Given the description of an element on the screen output the (x, y) to click on. 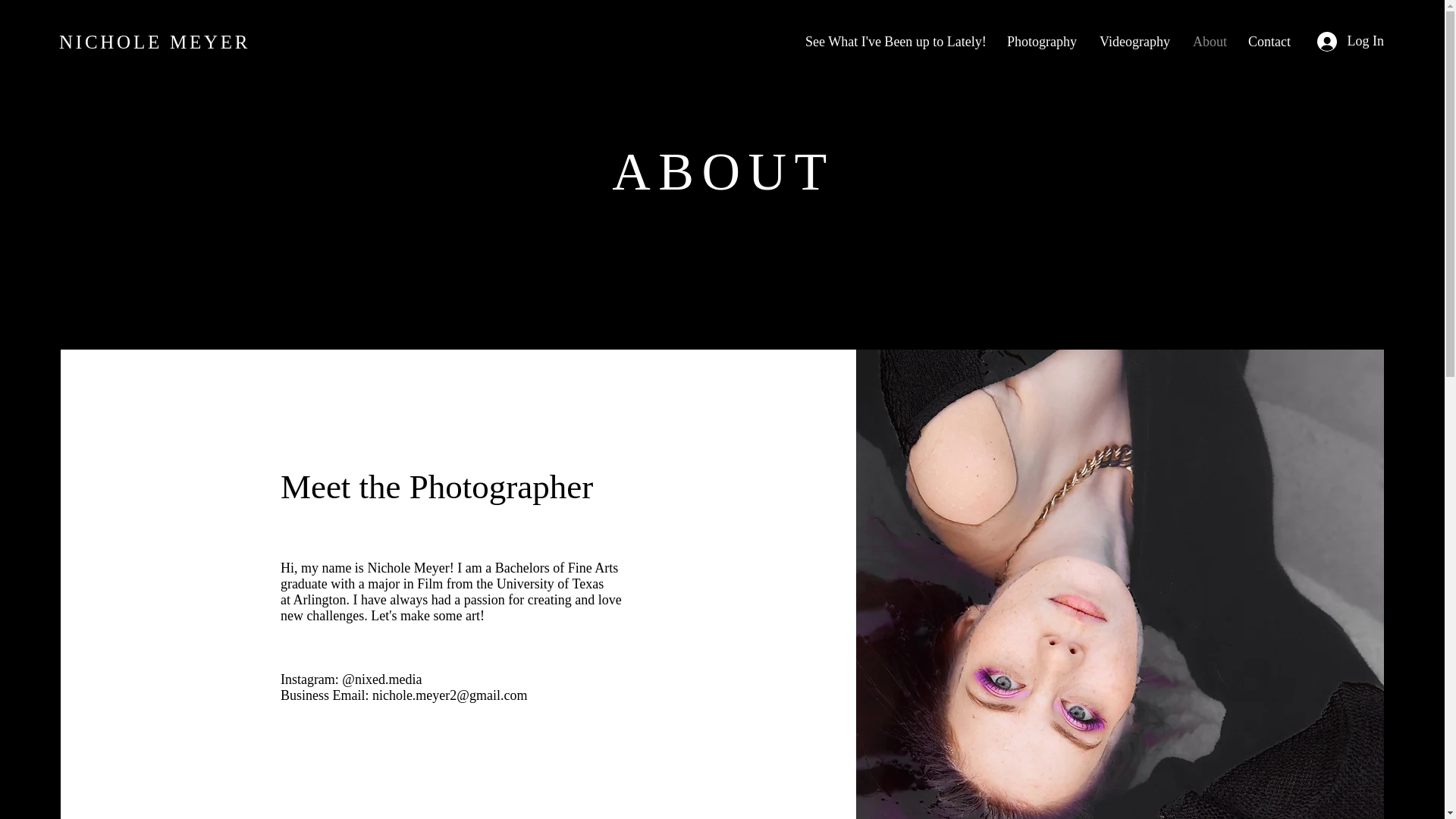
Contact (1268, 41)
NICHOLE MEYER (154, 41)
Log In (1350, 41)
Photography (1041, 41)
About (1208, 41)
Videography (1133, 41)
See What I've Been up to Lately! (894, 41)
